Given the description of an element on the screen output the (x, y) to click on. 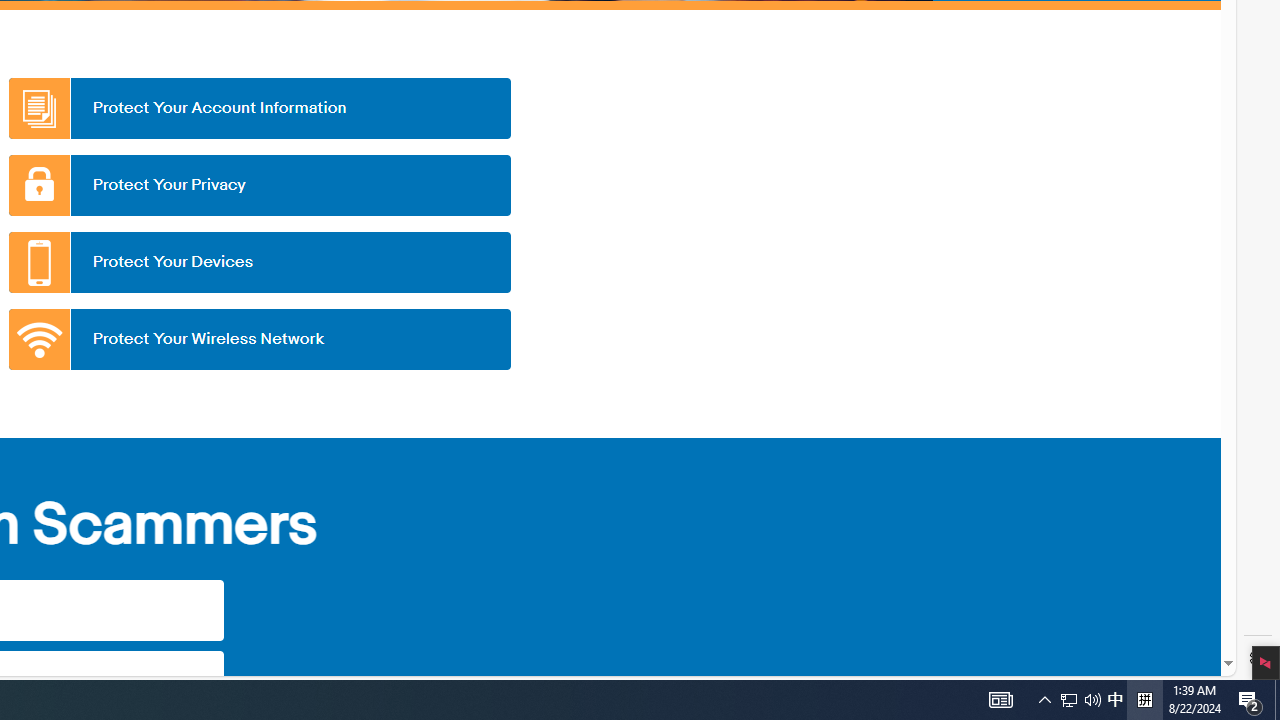
Protect Your Account Information (259, 107)
Protect Your Devices (259, 262)
Protect Your Privacy (259, 185)
Protect Your Wireless Network (259, 339)
